Given the description of an element on the screen output the (x, y) to click on. 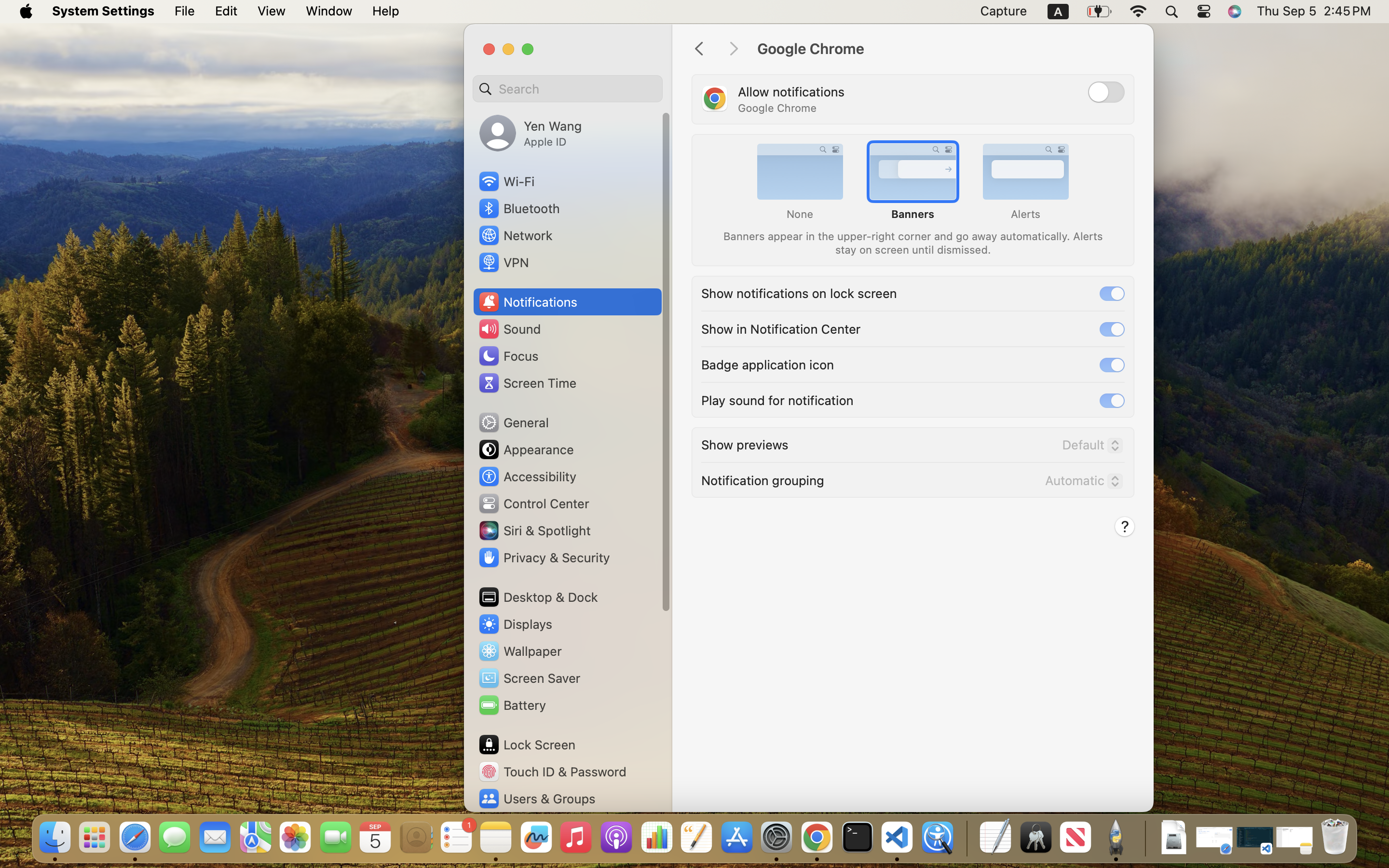
Lock Screen Element type: AXStaticText (526, 744)
Yen Wang, Apple ID Element type: AXStaticText (530, 132)
Sound Element type: AXStaticText (509, 328)
0.4285714328289032 Element type: AXDockItem (965, 837)
Appearance Element type: AXStaticText (525, 449)
